Given the description of an element on the screen output the (x, y) to click on. 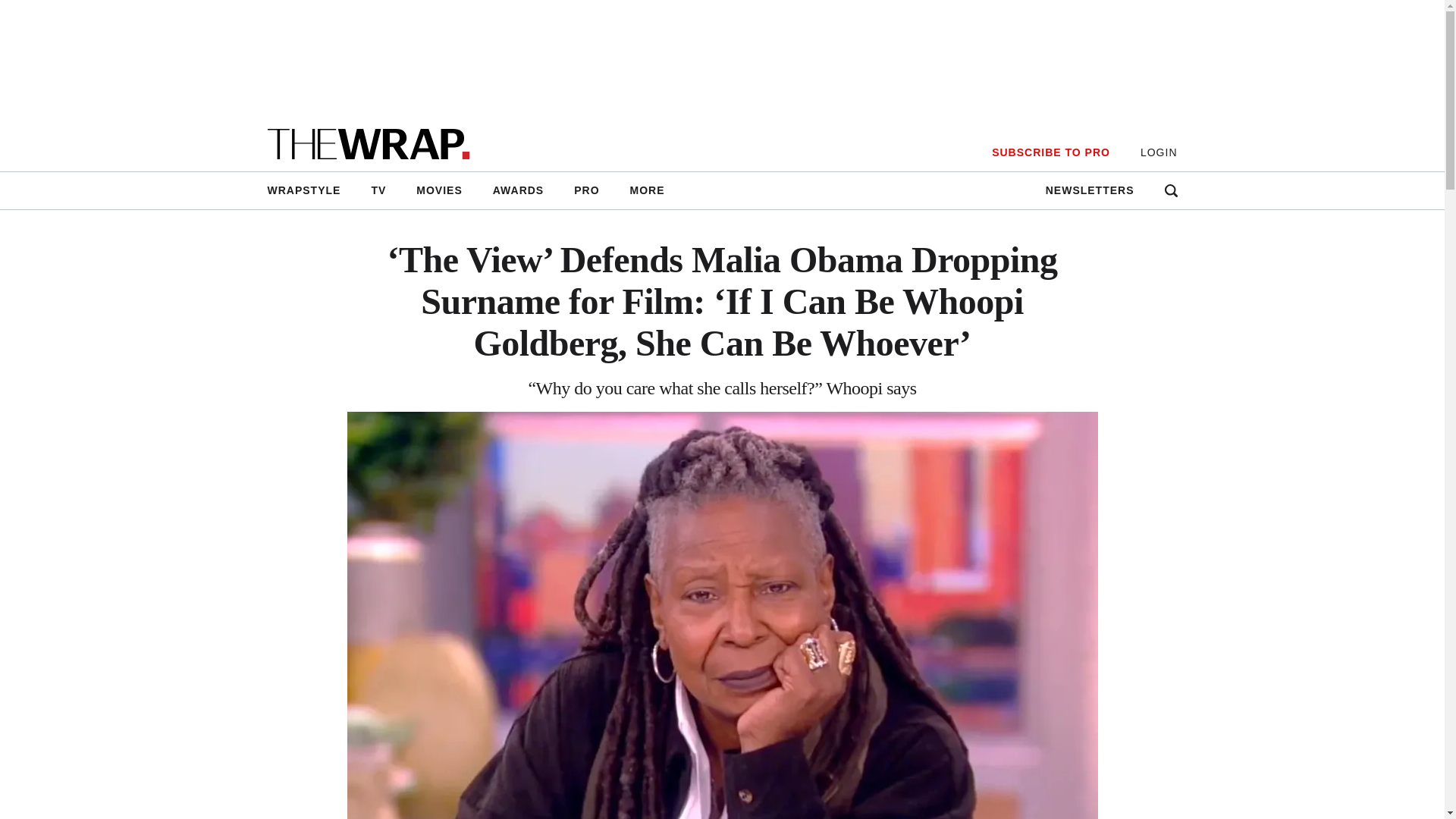
LOGIN (1158, 152)
AWARDS (518, 190)
WRAPSTYLE (310, 190)
TV (378, 190)
SUBSCRIBE TO PRO (1050, 152)
PRO (586, 190)
MOVIES (439, 190)
MORE (646, 190)
